Given the description of an element on the screen output the (x, y) to click on. 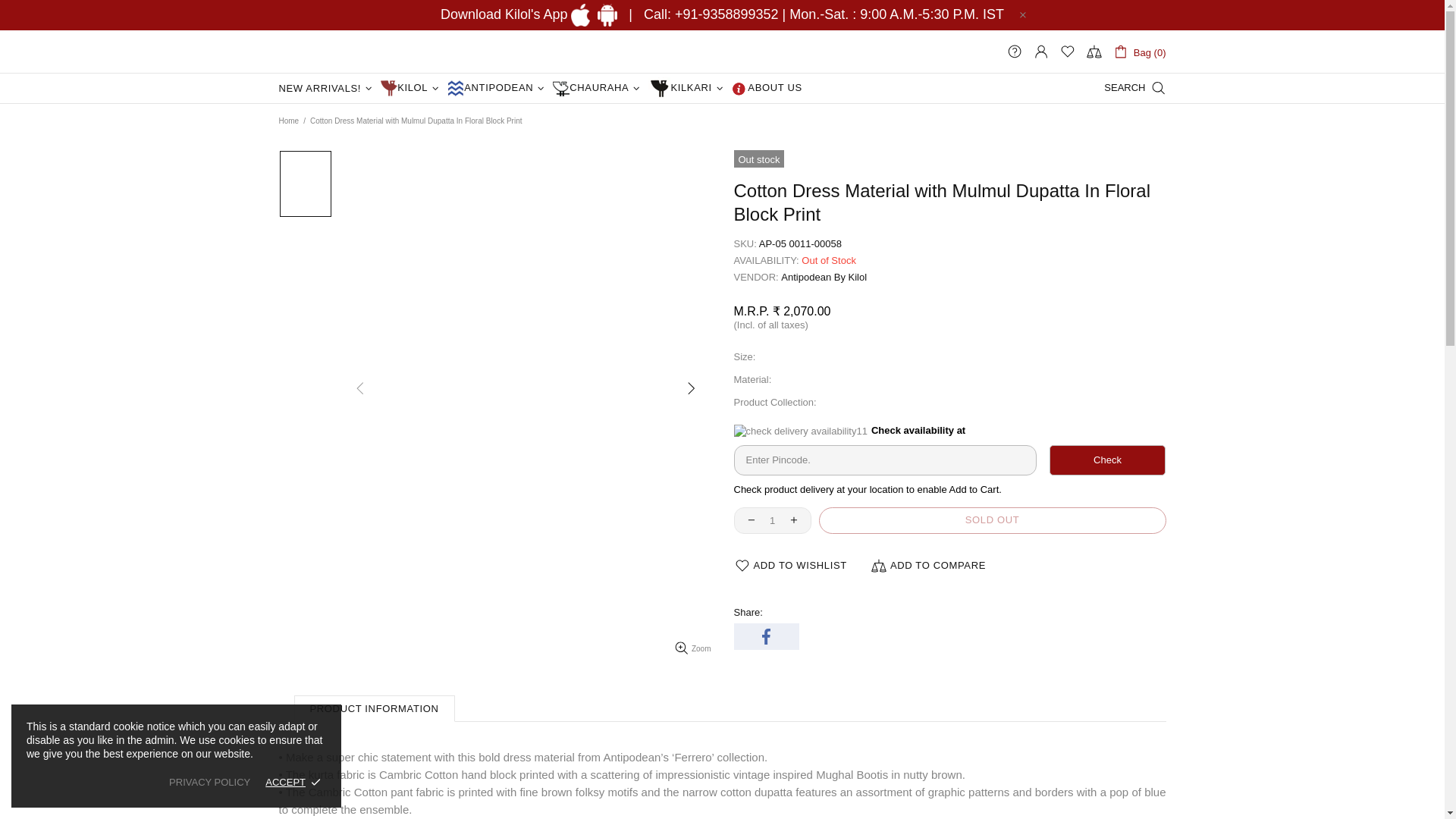
Please enter zipcode (992, 519)
1 (771, 519)
NEW ARRIVALS! (327, 88)
KILOL (411, 88)
Kilol India (331, 51)
